Given the description of an element on the screen output the (x, y) to click on. 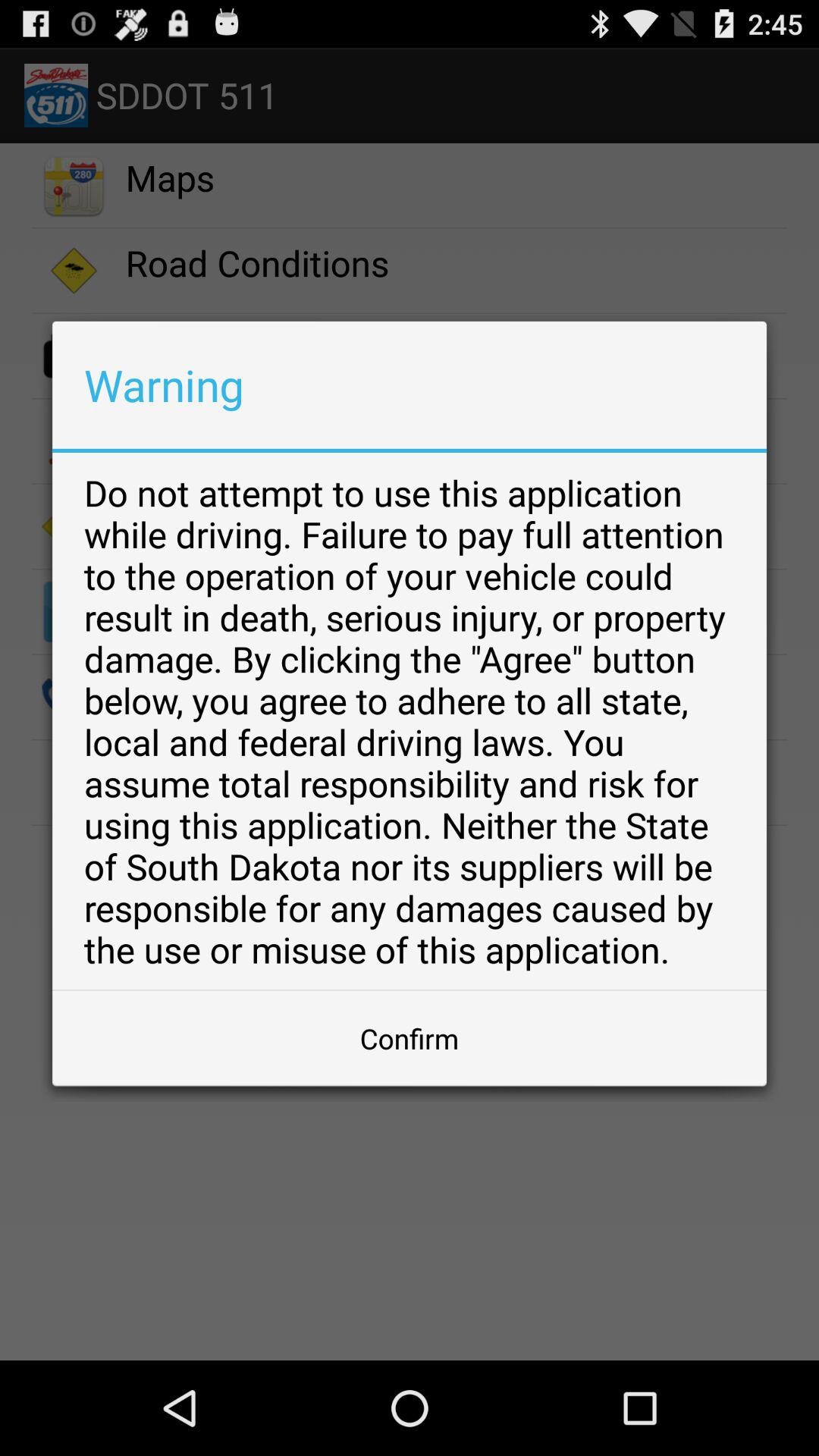
turn on the confirm icon (409, 1038)
